Given the description of an element on the screen output the (x, y) to click on. 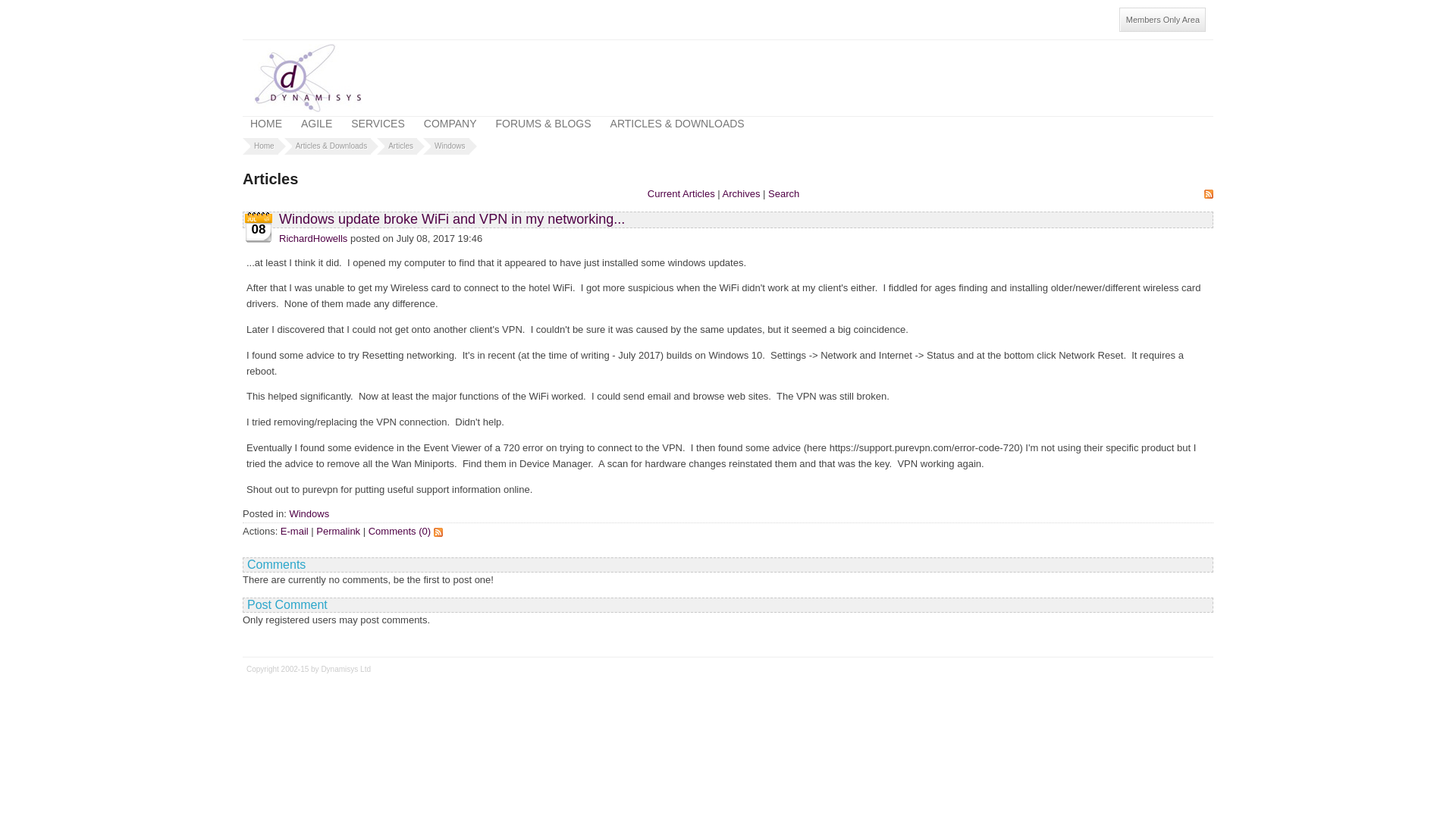
HOME (266, 123)
Articles (400, 146)
Members Only Area (1162, 19)
SERVICES (377, 123)
Home (264, 146)
Dynamisys (307, 77)
AGILE (316, 123)
Windows (449, 146)
COMPANY (450, 123)
Members Only Area (1162, 19)
